Given the description of an element on the screen output the (x, y) to click on. 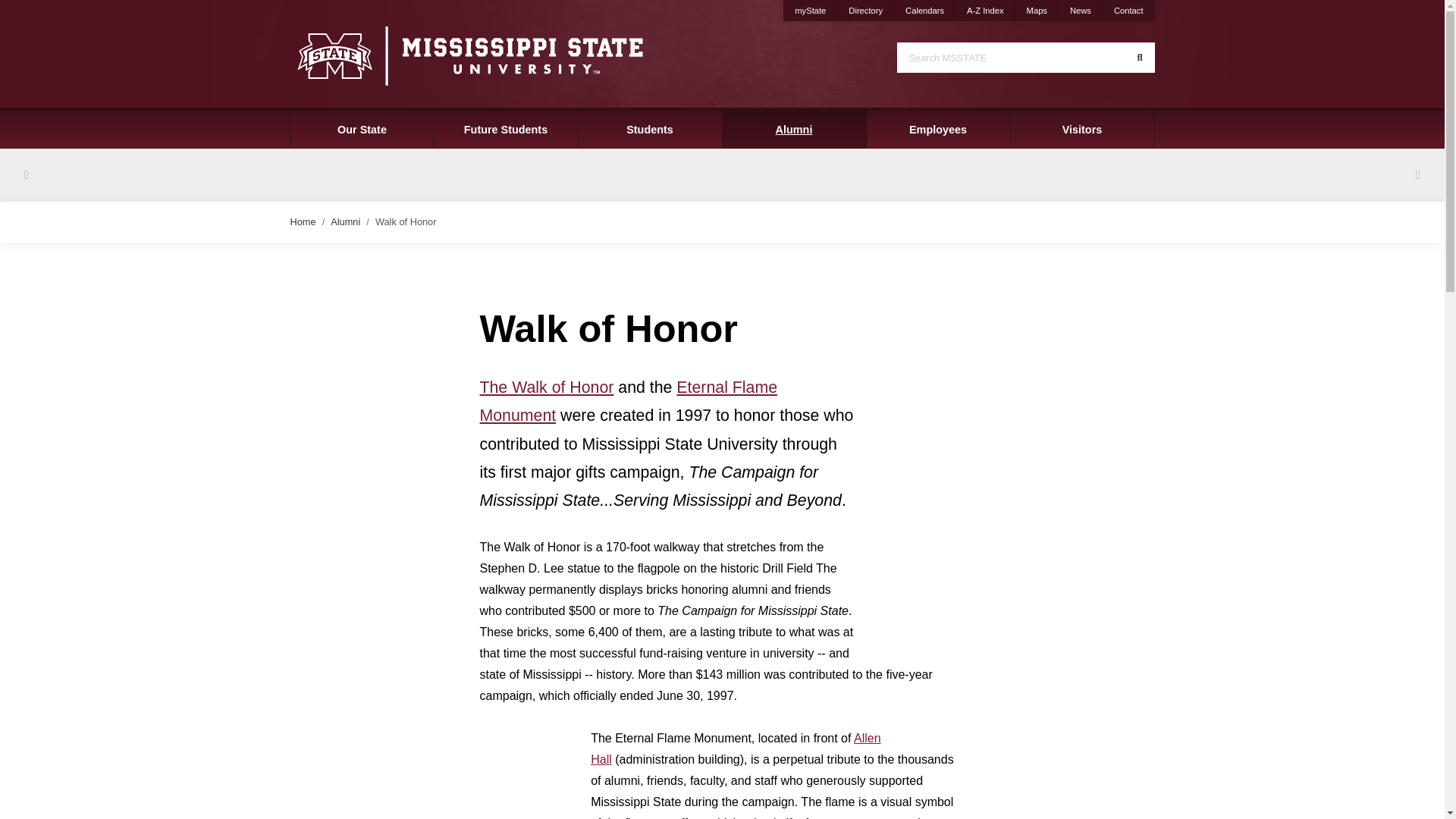
Locate the Eternal Flame on the Campus Map (628, 401)
Locate Allen Hall on the Campus Map (735, 748)
Search (1139, 57)
Locate the Walk of Honor on the Campus Map (545, 387)
Mississippi State University (468, 55)
Hover to scroll section menu to the left (26, 174)
